Given the description of an element on the screen output the (x, y) to click on. 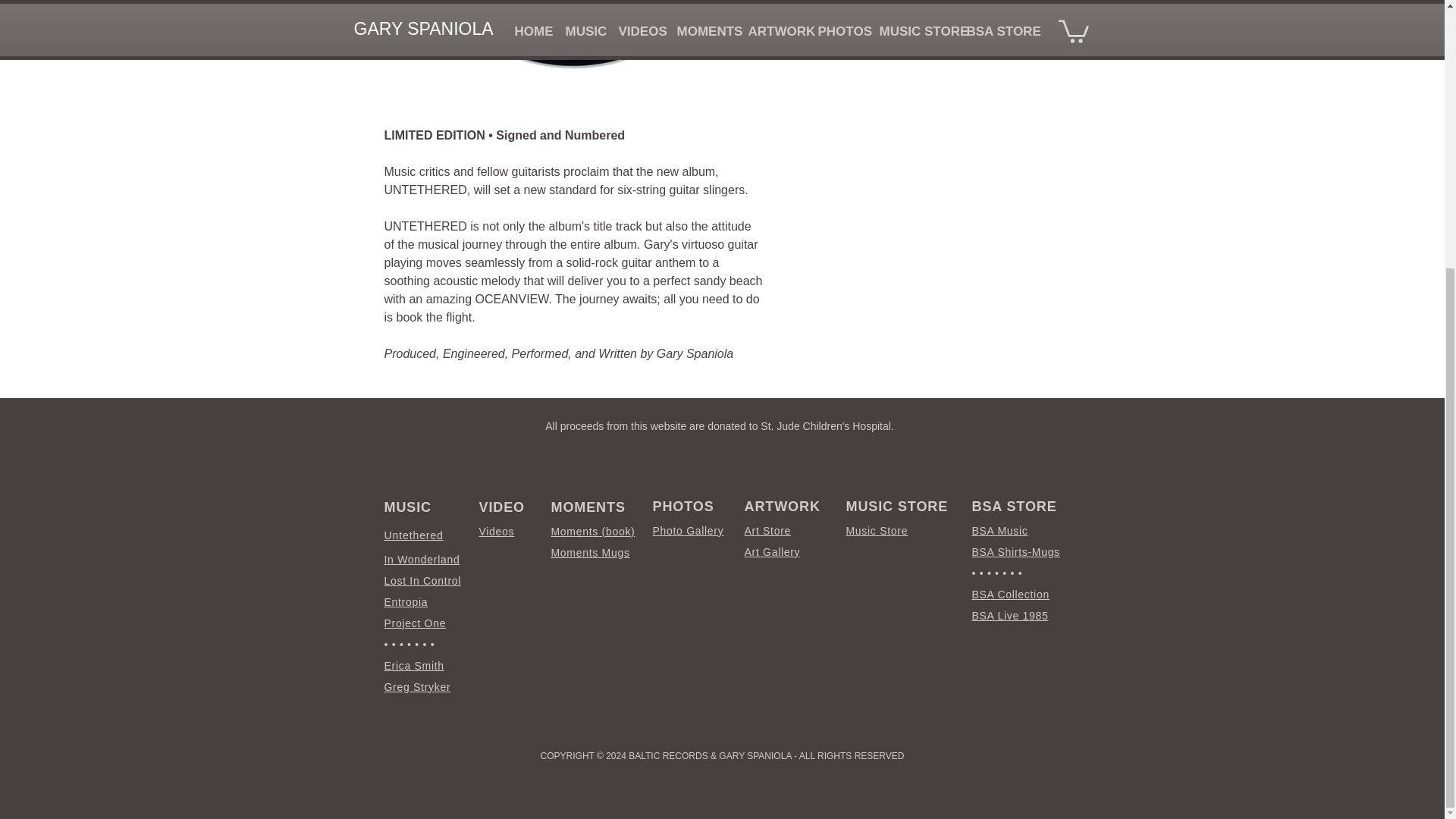
Music Store (876, 530)
Art Store (768, 530)
BSA Music (999, 530)
Photo Gallery (687, 530)
BSA Collection (1010, 594)
BSA Live 1985 (1010, 615)
Untethered (413, 534)
In Wonderland (422, 559)
Moments Mugs (589, 552)
Entropia (406, 602)
Erica Smith (414, 665)
BSA Shirts-Mugs (1015, 551)
Videos (497, 531)
Art Gallery (772, 551)
Greg Stryker (416, 686)
